Given the description of an element on the screen output the (x, y) to click on. 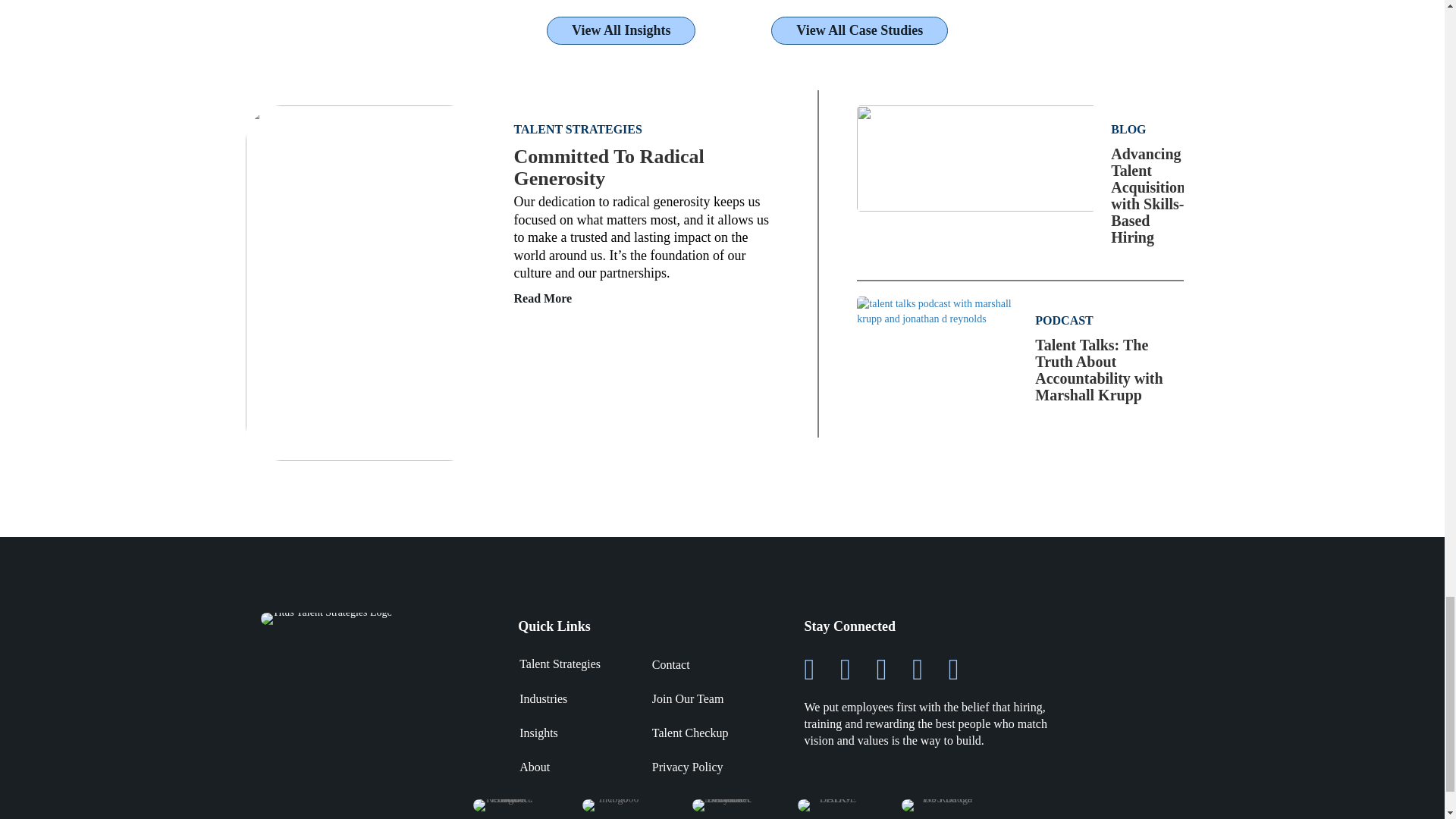
ETK-BADGE (831, 805)
Committed To Radical Generosity (364, 282)
Committed To Radical Generosity (608, 167)
SHRM ALL WHITE (503, 805)
2023 Best of Milwaukee Crystal Award (722, 805)
View All Case Studies (859, 30)
EOS-WeRunOnEOS-Badge (940, 805)
Read More (542, 298)
Advancing Talent Acquisition with Skills-Based Hiring (976, 156)
View All Insights (621, 30)
